Given the description of an element on the screen output the (x, y) to click on. 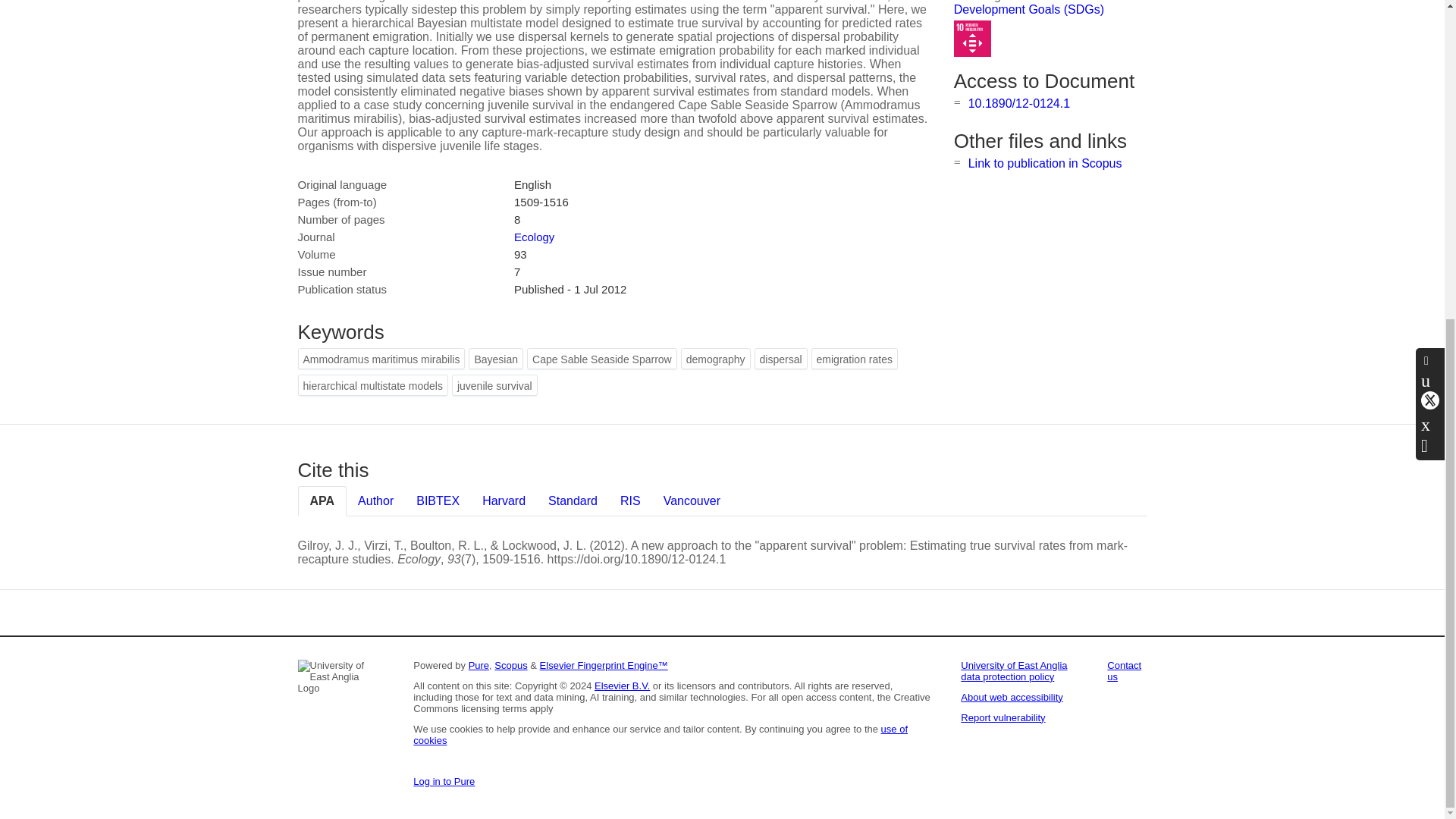
Link to publication in Scopus (1045, 163)
University of East Anglia data protection policy (1013, 671)
Report vulnerability (1002, 717)
Scopus (511, 665)
Contact us (1123, 671)
About web accessibility (1011, 696)
SDG 10 - Reduced Inequalities (972, 38)
Pure (478, 665)
use of cookies (660, 734)
Log in to Pure (443, 781)
